Given the description of an element on the screen output the (x, y) to click on. 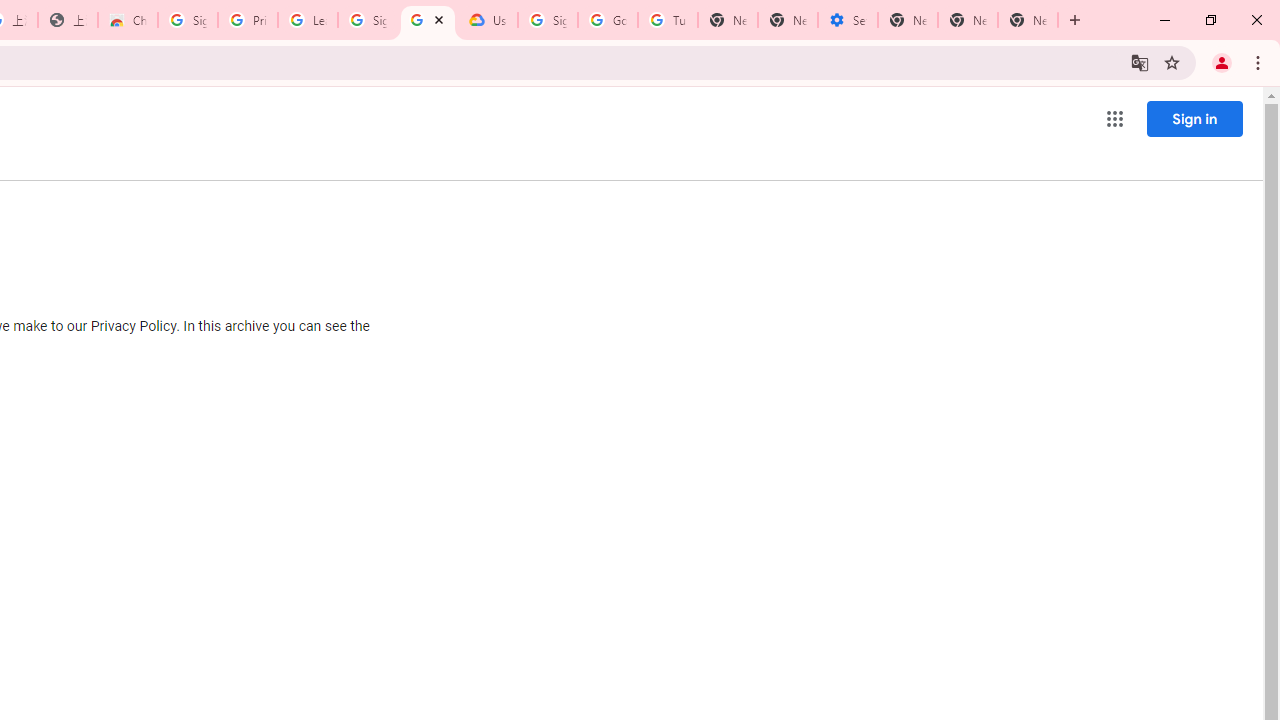
Google Account Help (607, 20)
Translate this page (1139, 62)
New Tab (908, 20)
Sign in - Google Accounts (367, 20)
Chrome Web Store - Color themes by Chrome (127, 20)
Settings - Addresses and more (847, 20)
